Given the description of an element on the screen output the (x, y) to click on. 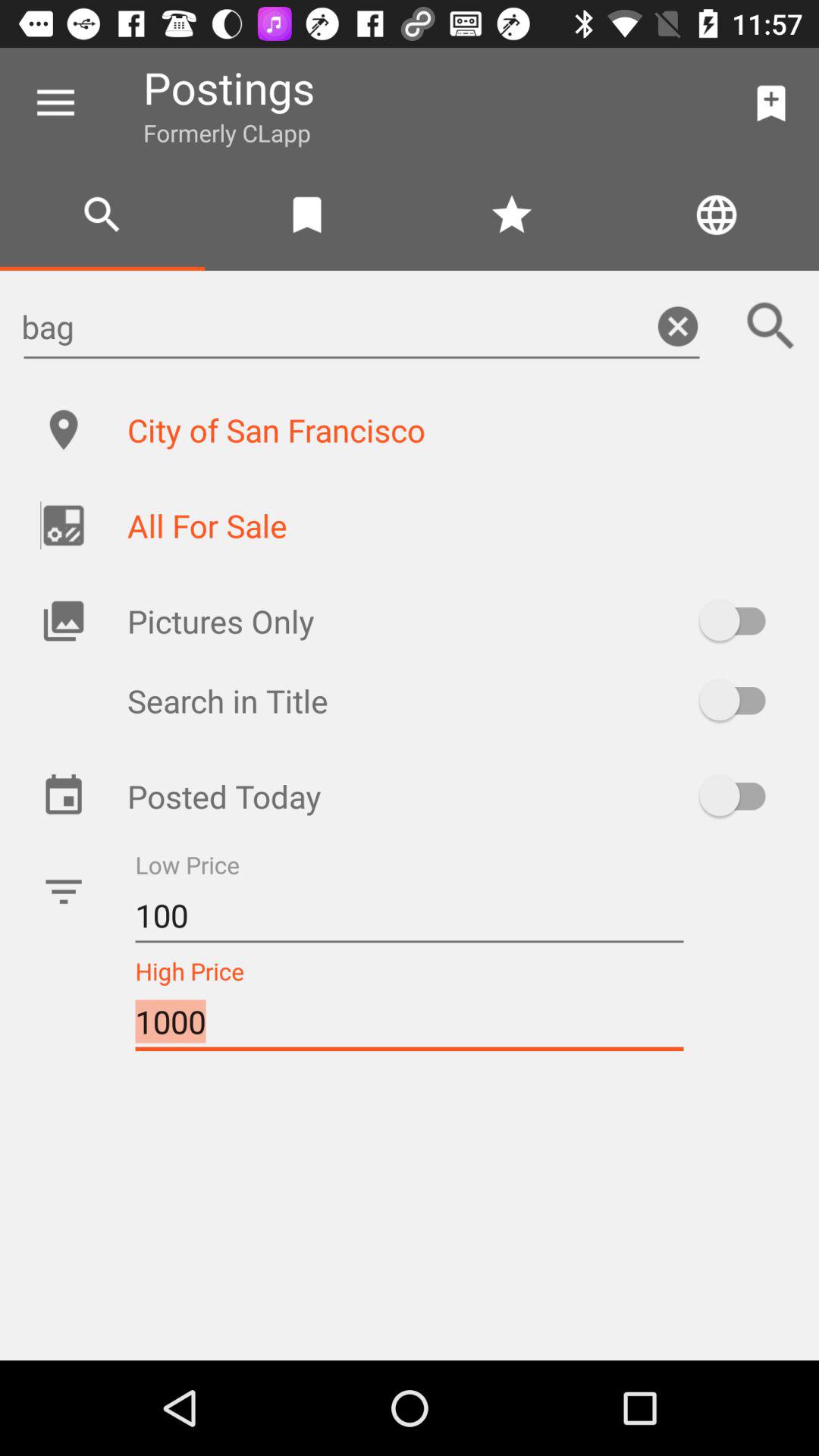
turn on icon above the all for sale item (457, 429)
